Given the description of an element on the screen output the (x, y) to click on. 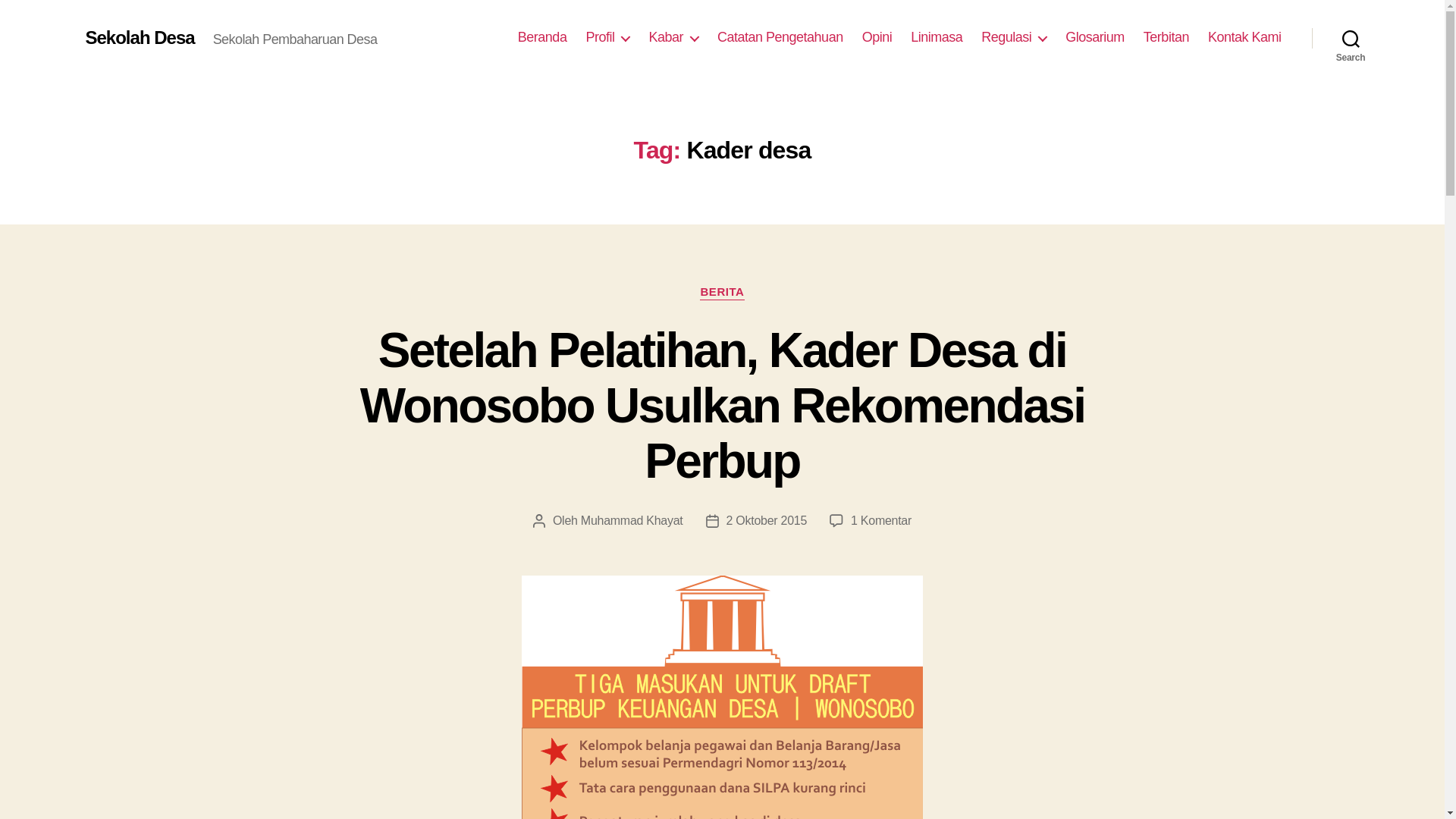
Catatan Pengetahuan (780, 37)
Search (1350, 37)
Terbitan (1165, 37)
Opini (876, 37)
Glosarium (1094, 37)
Beranda (542, 37)
Regulasi (1013, 37)
Sekolah Desa (138, 37)
Linimasa (936, 37)
Kontak Kami (1244, 37)
Kabar (672, 37)
Profil (606, 37)
